Given the description of an element on the screen output the (x, y) to click on. 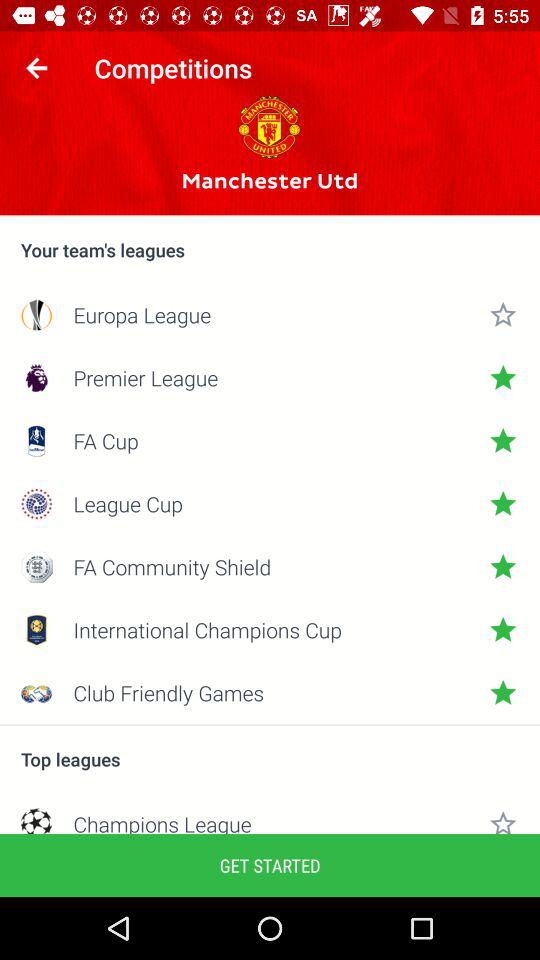
open the item above the top leagues (270, 725)
